Given the description of an element on the screen output the (x, y) to click on. 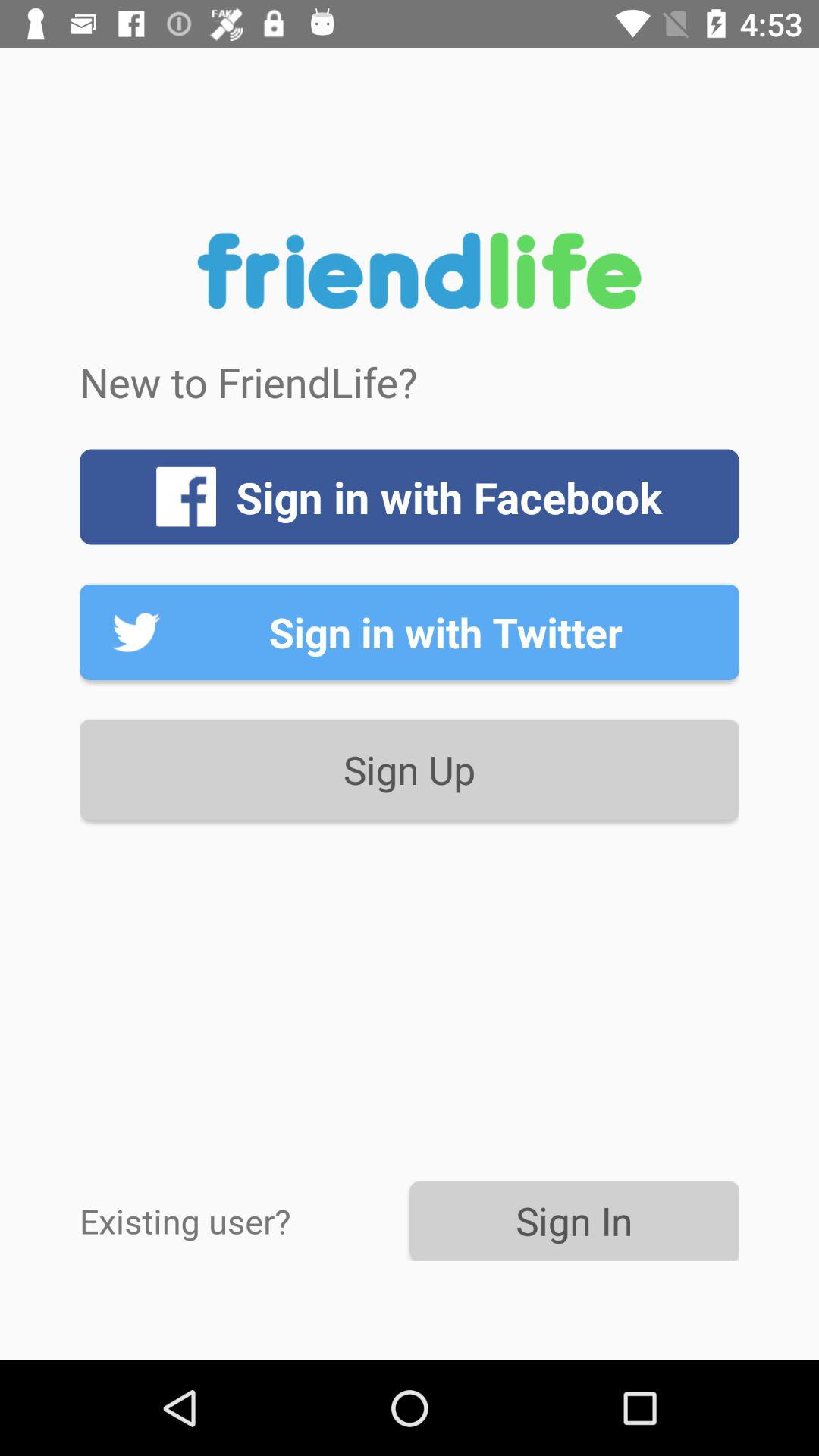
select the existing user? at the bottom left corner (244, 1220)
